Given the description of an element on the screen output the (x, y) to click on. 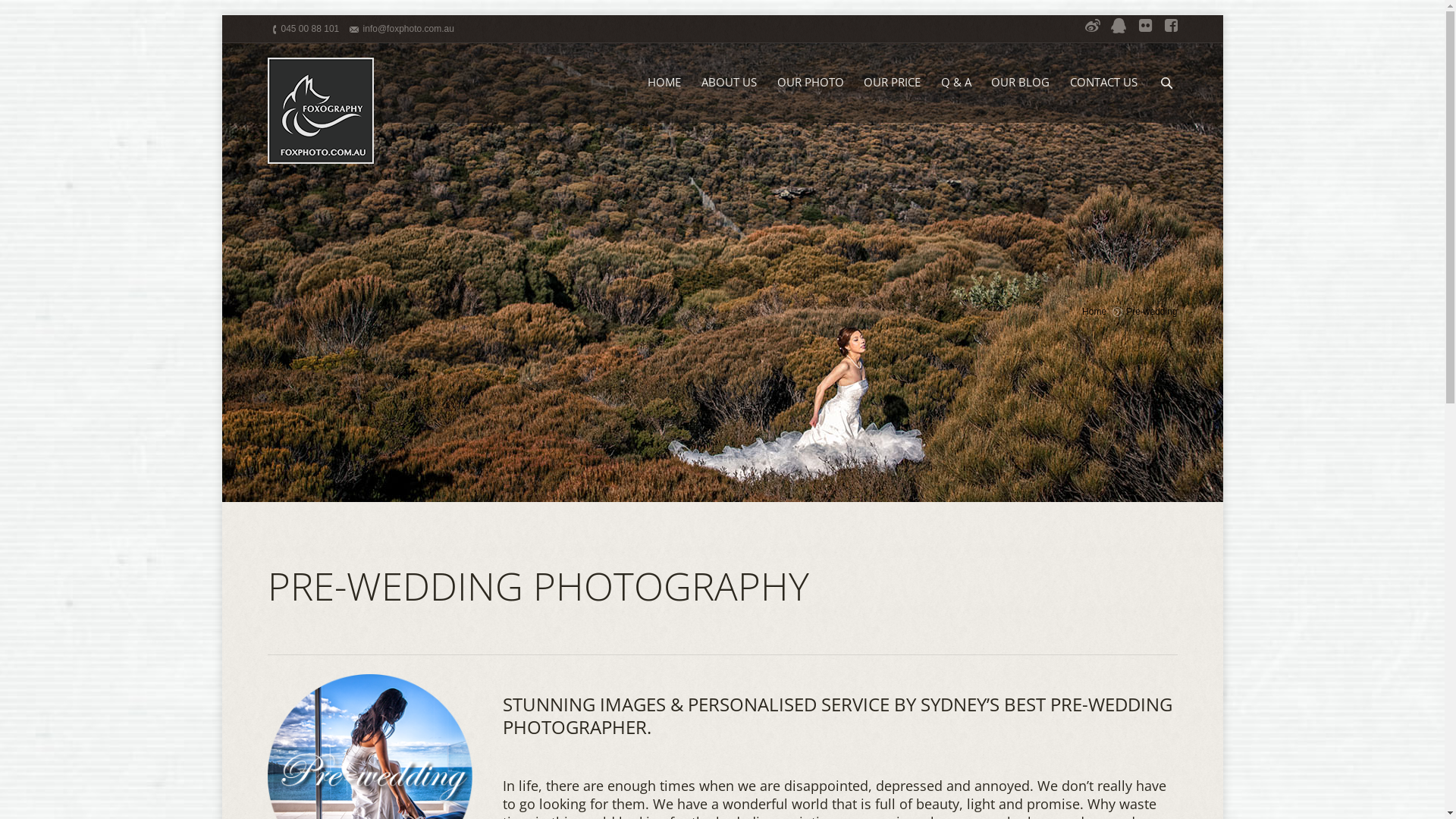
Go! Element type: text (15, 12)
OUR PHOTO Element type: text (810, 82)
CONTACT US Element type: text (1103, 82)
Q & A Element type: text (955, 82)
ABOUT US Element type: text (728, 82)
Home Element type: text (1094, 311)
HOME Element type: text (664, 82)
QQ Element type: text (1113, 29)
Weibo Element type: text (1087, 29)
OUR BLOG Element type: text (1020, 82)
Facebook Element type: text (1165, 29)
OUR PRICE Element type: text (892, 82)
Flickr Element type: text (1139, 29)
